Given the description of an element on the screen output the (x, y) to click on. 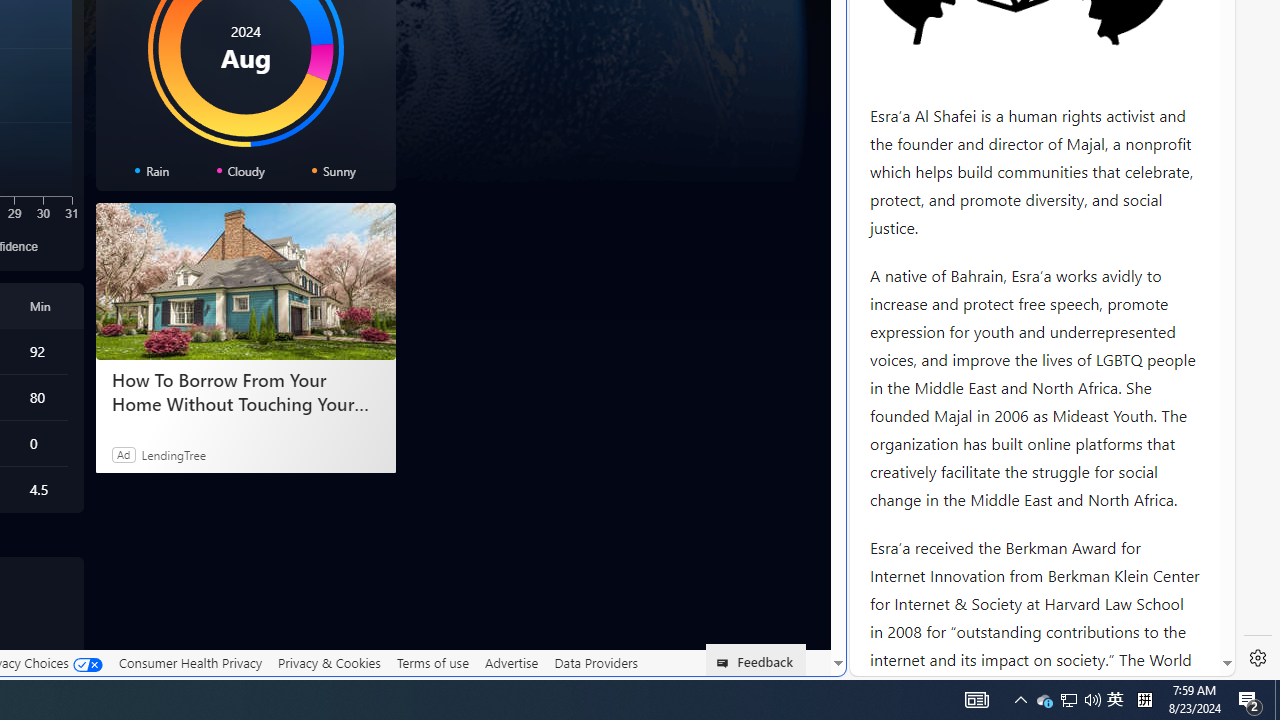
Class: feedback_link_icon-DS-EntryPoint1-1 (726, 663)
